Given the description of an element on the screen output the (x, y) to click on. 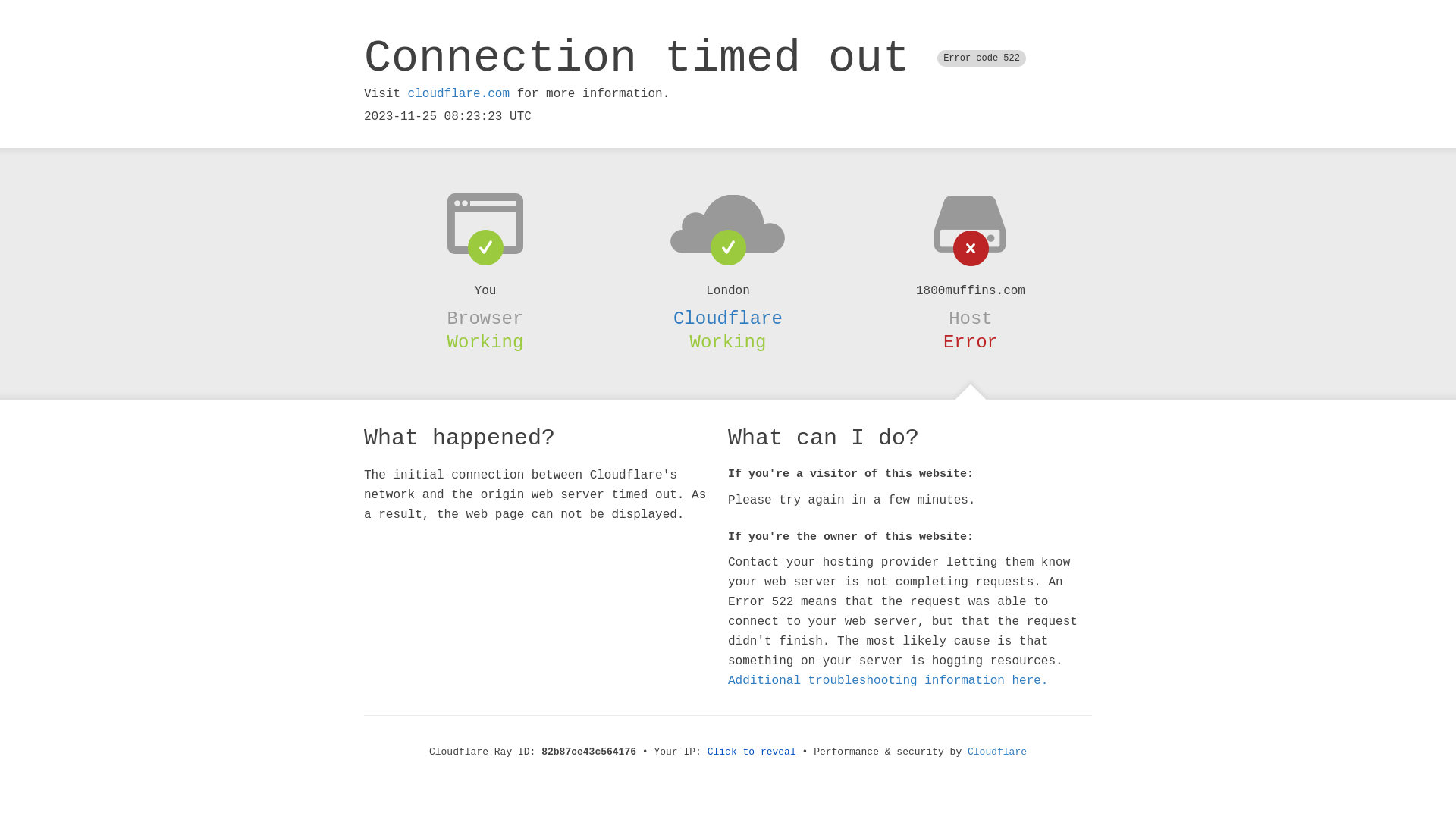
cloudflare.com Element type: text (458, 93)
Cloudflare Element type: text (996, 751)
Additional troubleshooting information here. Element type: text (888, 680)
Click to reveal Element type: text (751, 751)
Cloudflare Element type: text (727, 318)
